Given the description of an element on the screen output the (x, y) to click on. 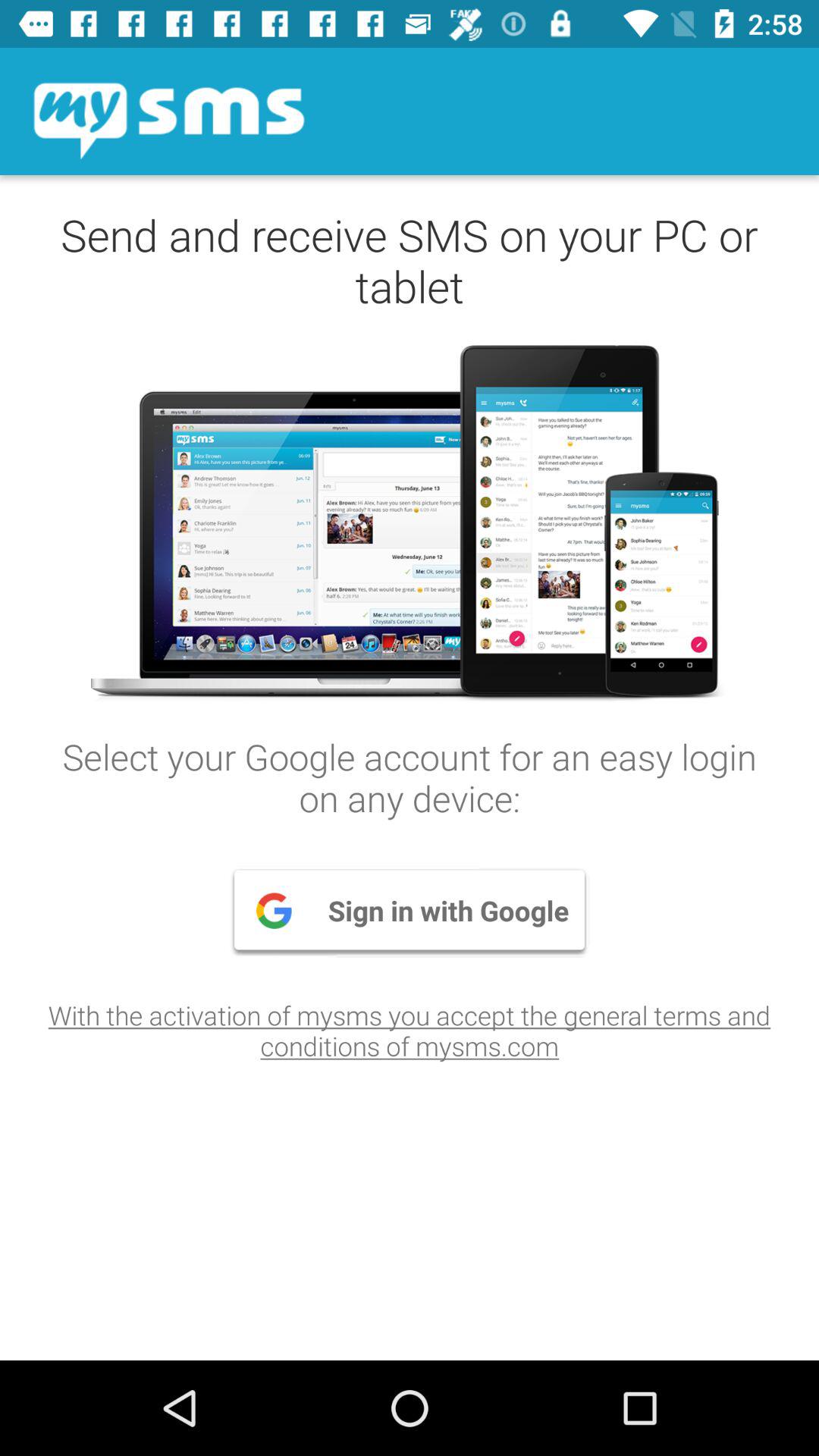
flip to the sign in with icon (409, 909)
